Given the description of an element on the screen output the (x, y) to click on. 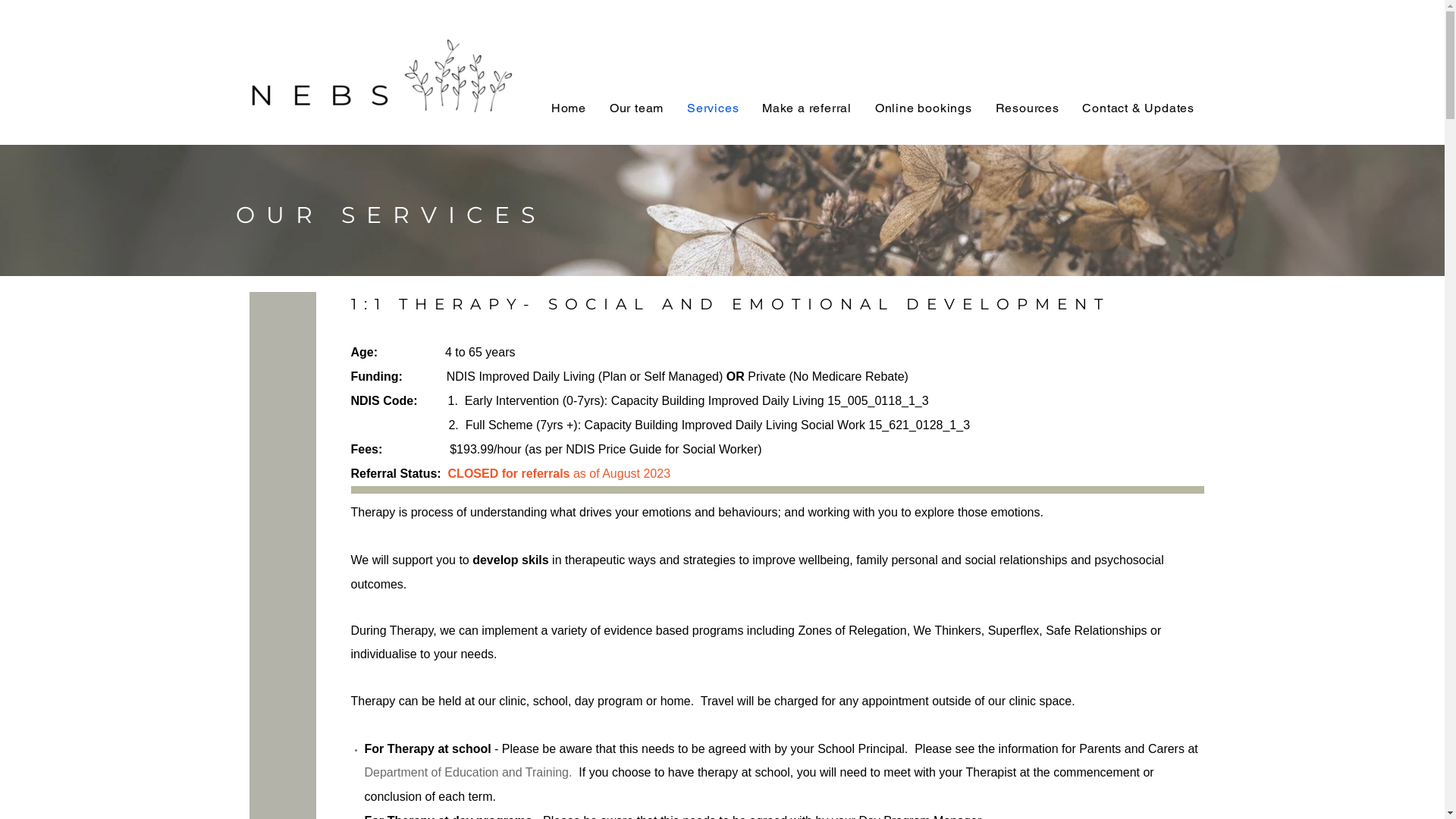
Home Element type: text (568, 107)
Our team Element type: text (635, 107)
Resources Element type: text (1026, 107)
Services Element type: text (712, 107)
Contact & Updates Element type: text (1137, 107)
Online bookings Element type: text (923, 107)
Make a referral Element type: text (806, 107)
